Given the description of an element on the screen output the (x, y) to click on. 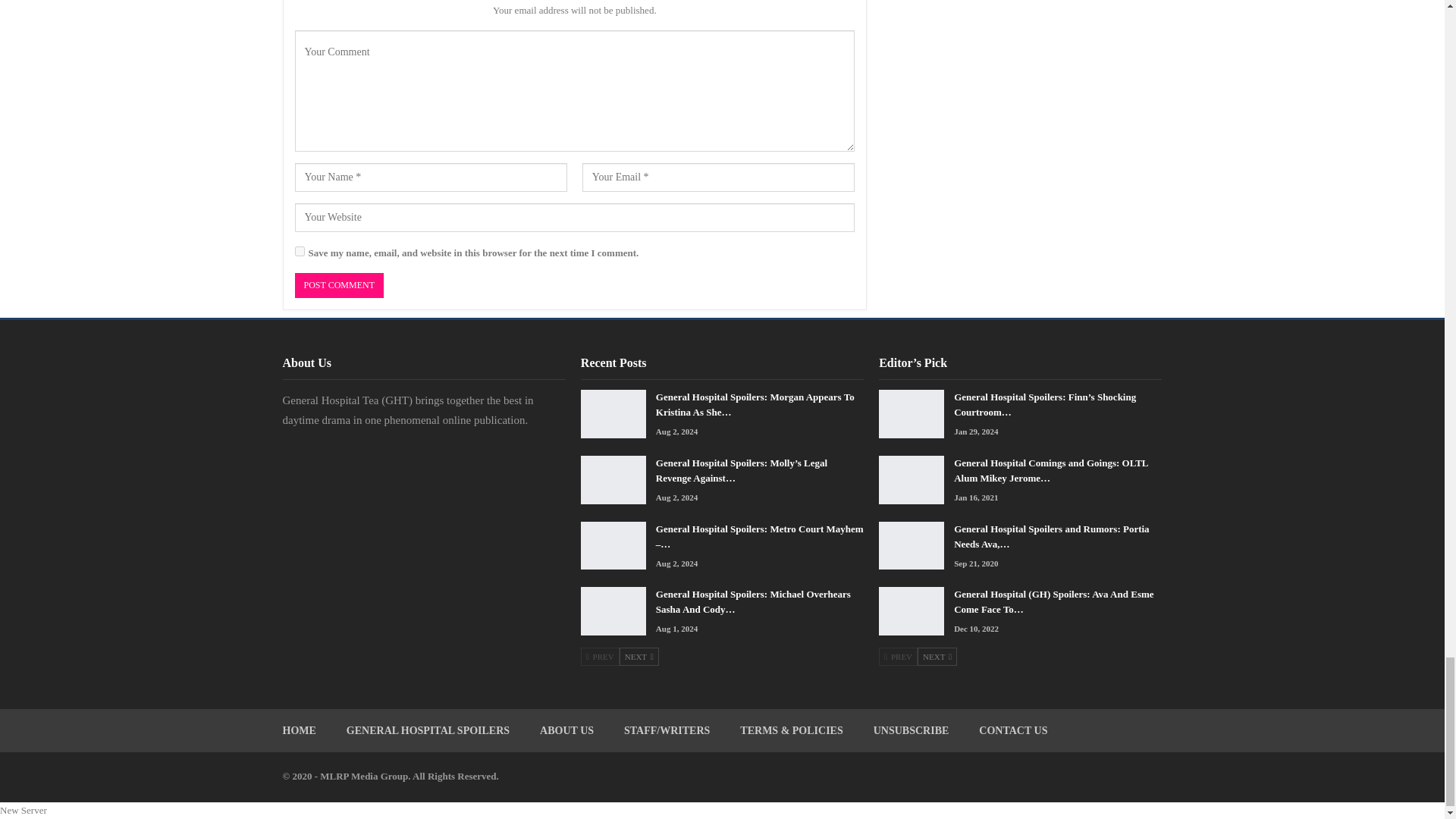
Post Comment (338, 285)
yes (299, 251)
